Given the description of an element on the screen output the (x, y) to click on. 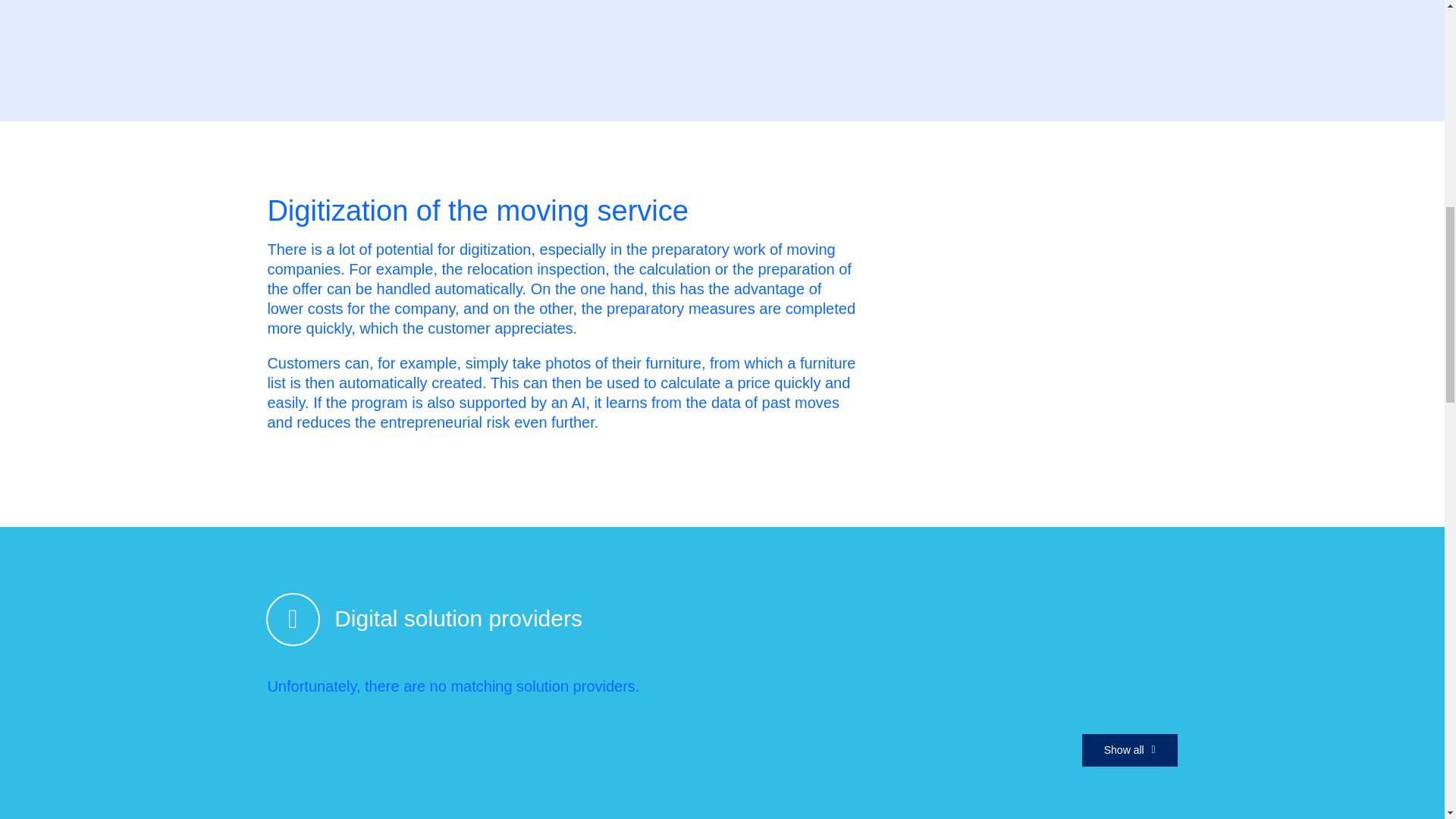
handiwork-nyc-x6pnKtPZ-8s-unsplash (1017, 274)
markus-spiske-RWTUrJf7I5w-unsplash (1040, 20)
Show all (1129, 749)
